Given the description of an element on the screen output the (x, y) to click on. 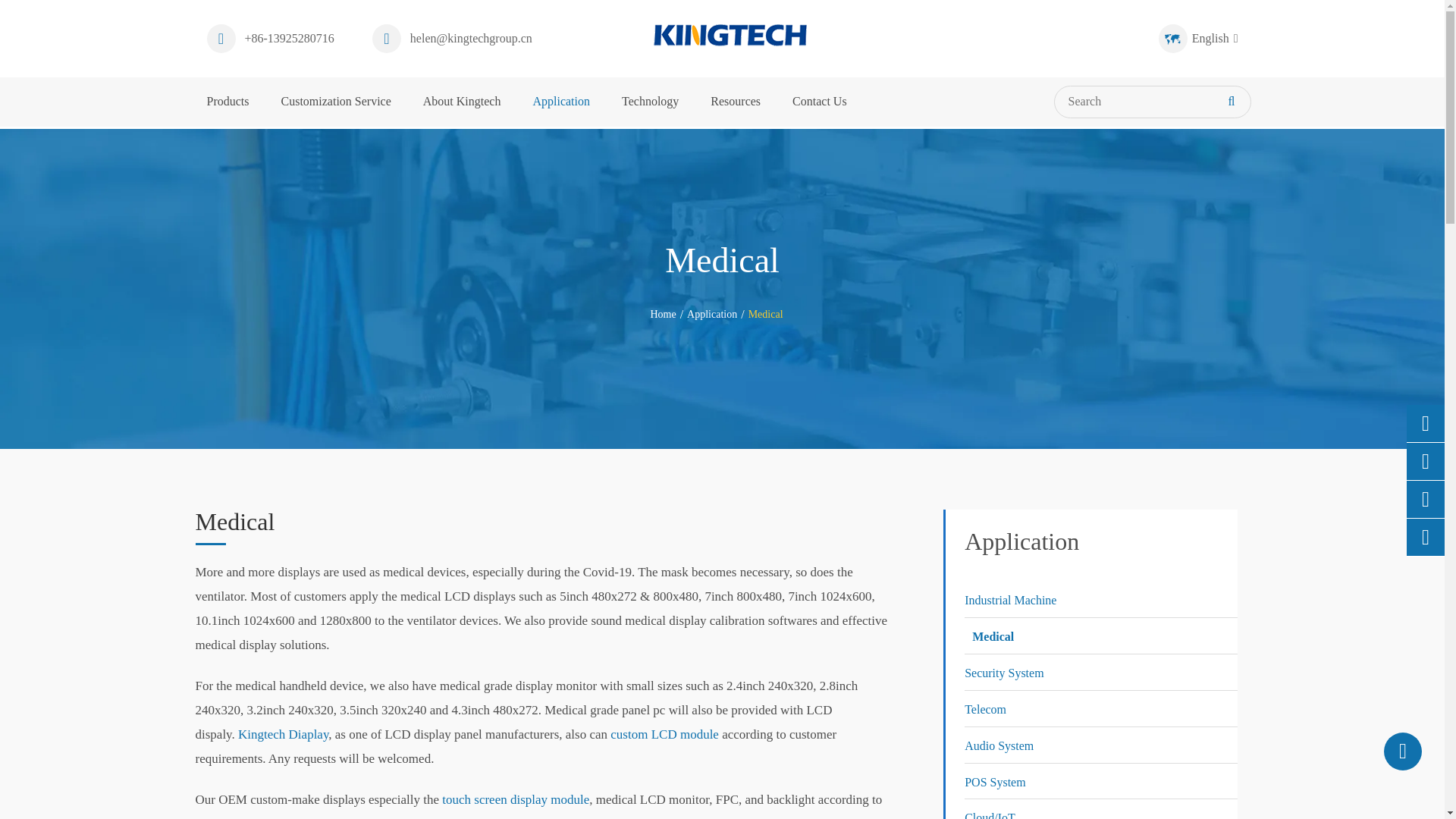
Kingtech Group Co., Ltd. (729, 34)
Application (711, 314)
English (1172, 39)
Events (1099, 538)
Medical (765, 314)
